Given the description of an element on the screen output the (x, y) to click on. 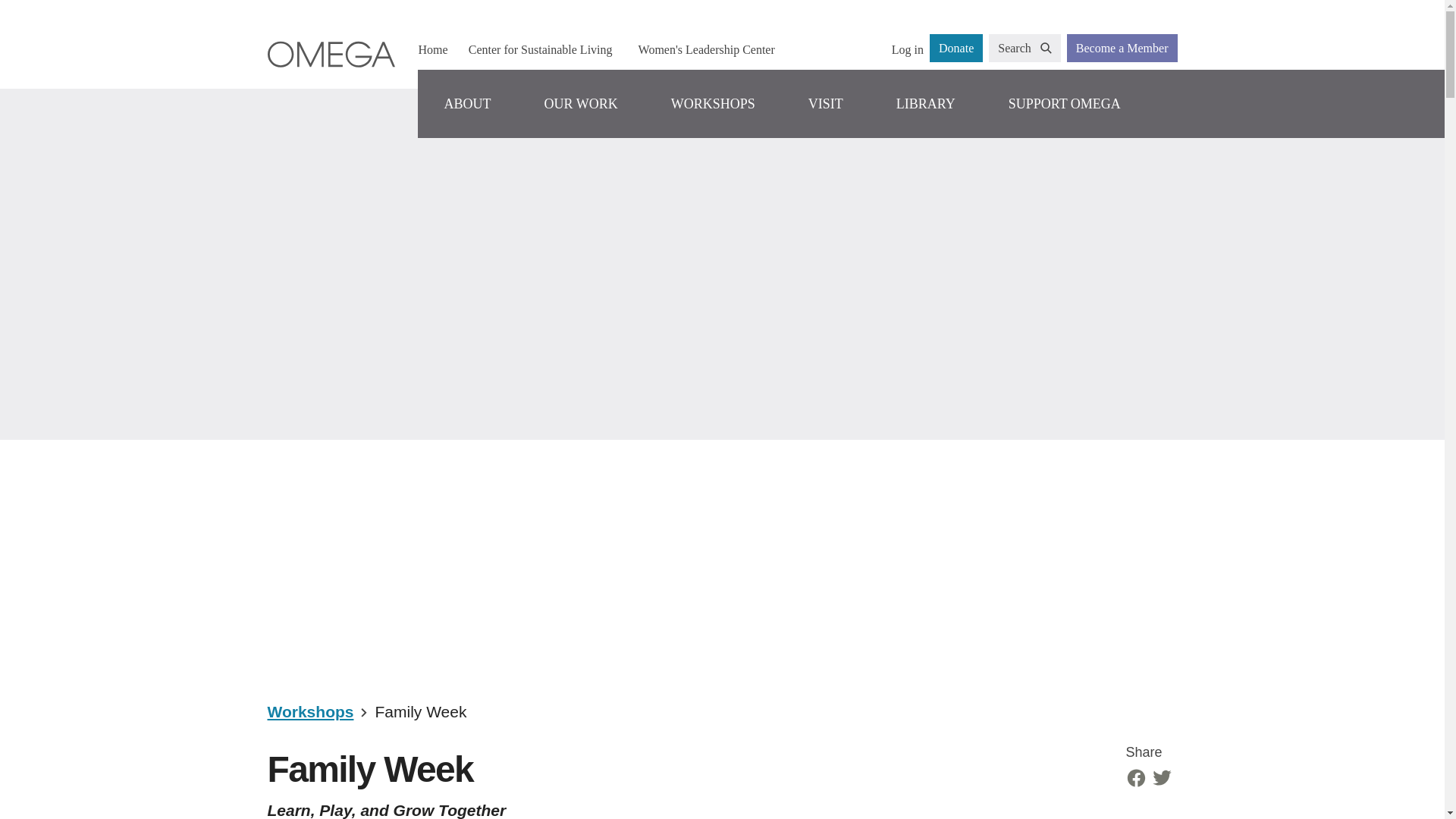
Center for Sustainable Living (540, 49)
Search (1024, 48)
Women's Leadership Center (705, 49)
Search (1024, 48)
Donate (956, 48)
Become a Member (1122, 48)
Home (432, 49)
Donate (956, 48)
Log in (907, 49)
